Given the description of an element on the screen output the (x, y) to click on. 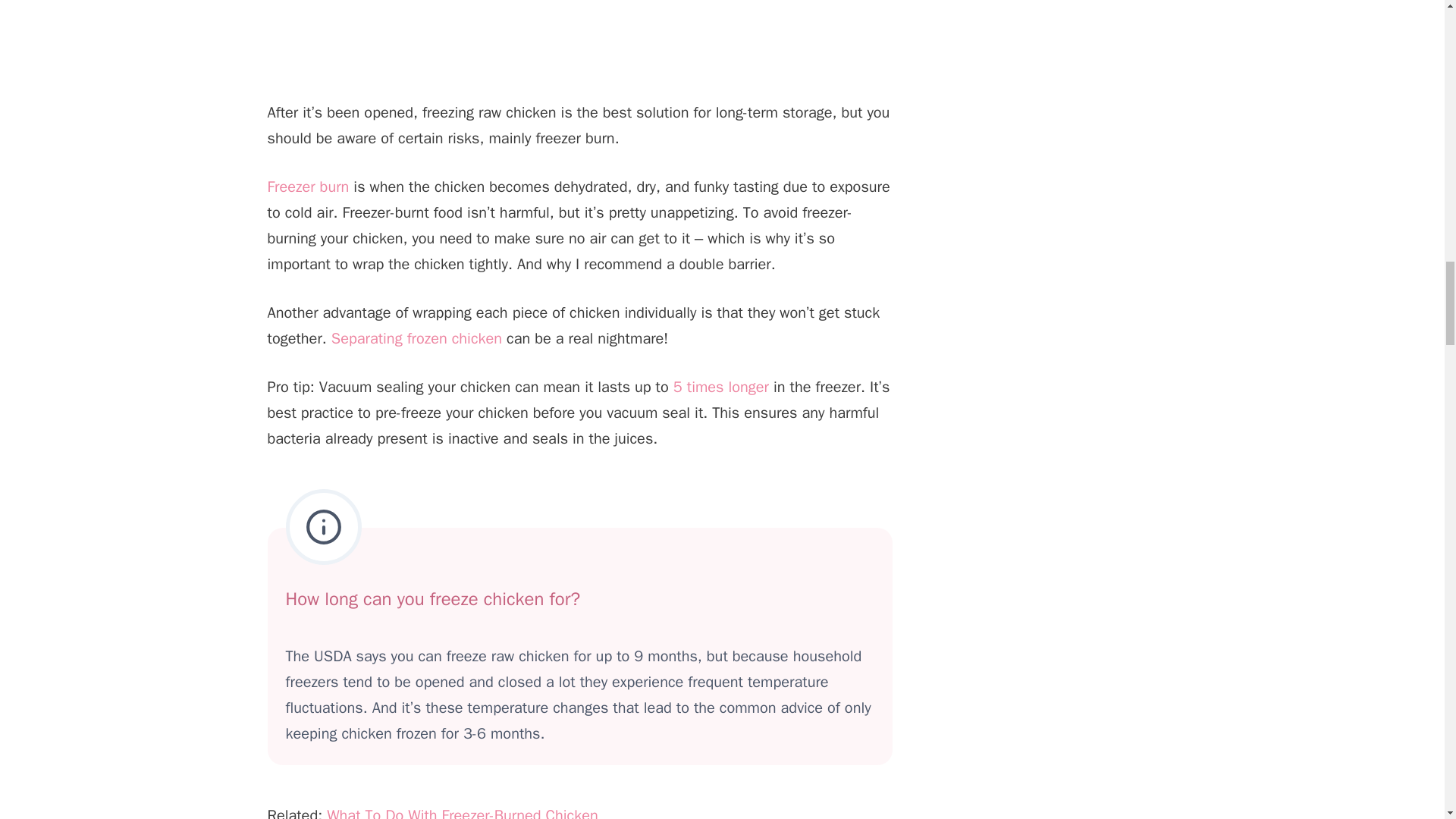
Separating frozen chicken (416, 338)
5 times longer (720, 386)
Freezer burn (307, 186)
